Given the description of an element on the screen output the (x, y) to click on. 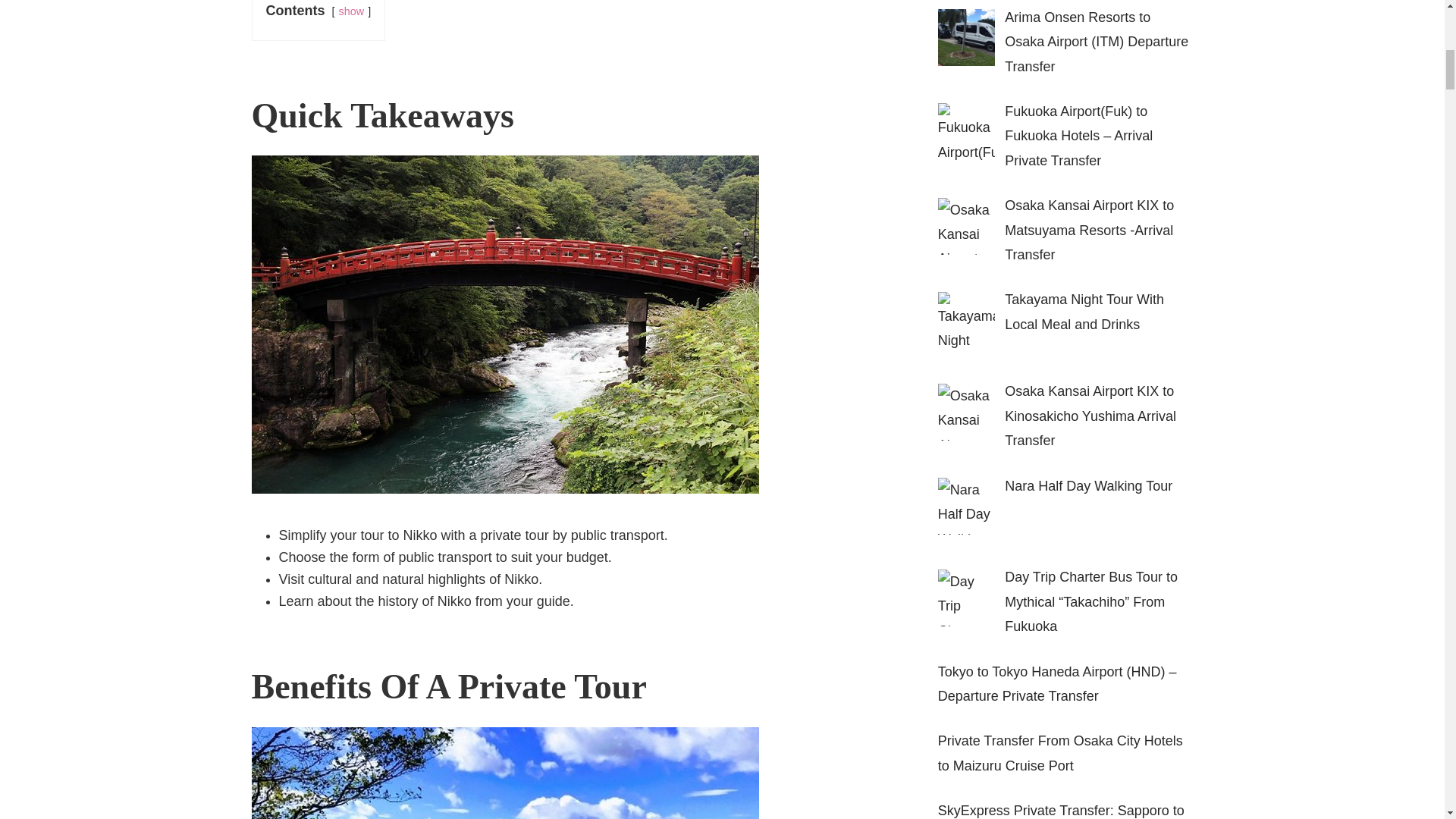
show (352, 10)
